Given the description of an element on the screen output the (x, y) to click on. 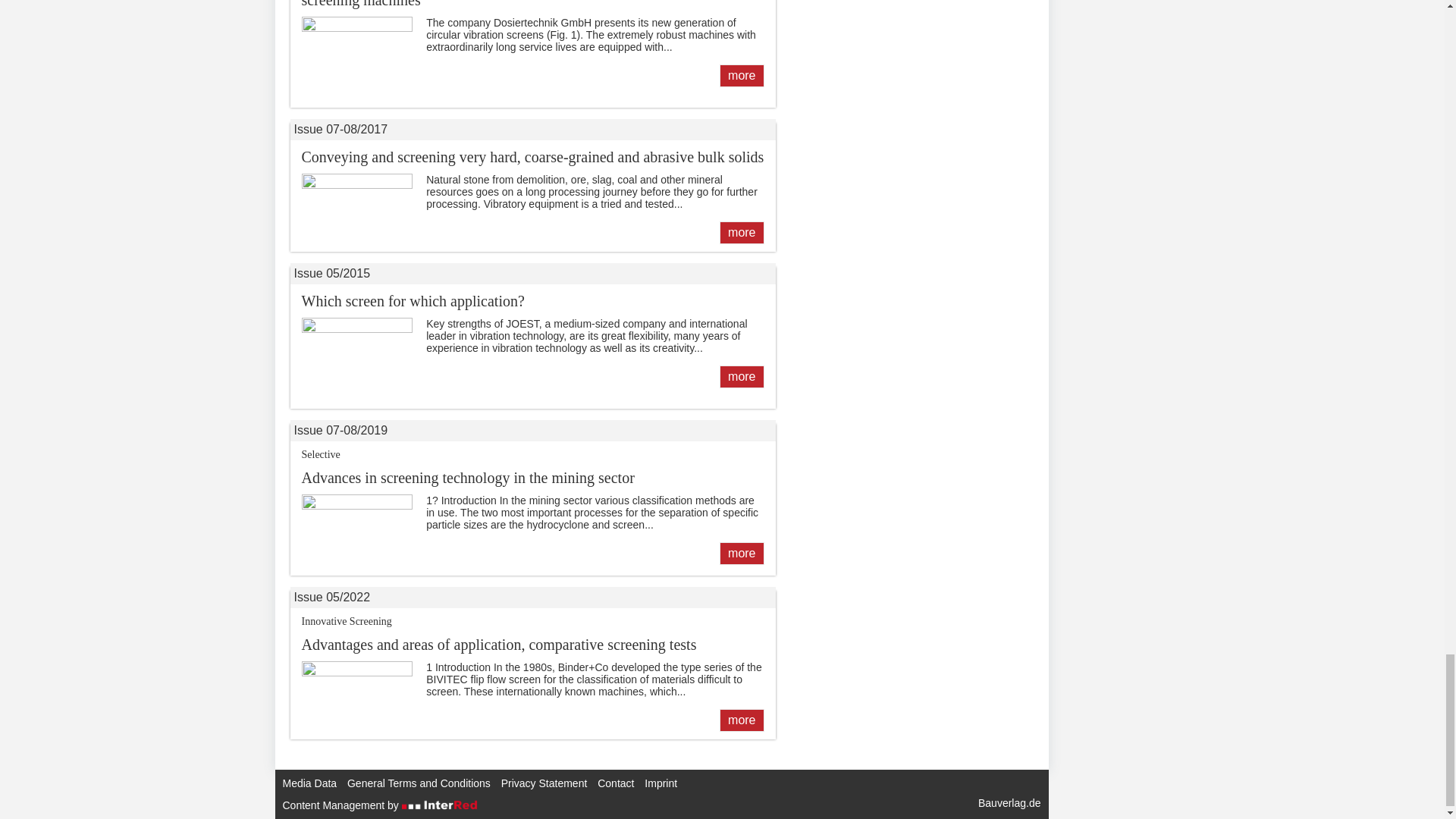
Advances in screening technology in the mining sector (740, 553)
Which screen for which application? (740, 376)
